Given the description of an element on the screen output the (x, y) to click on. 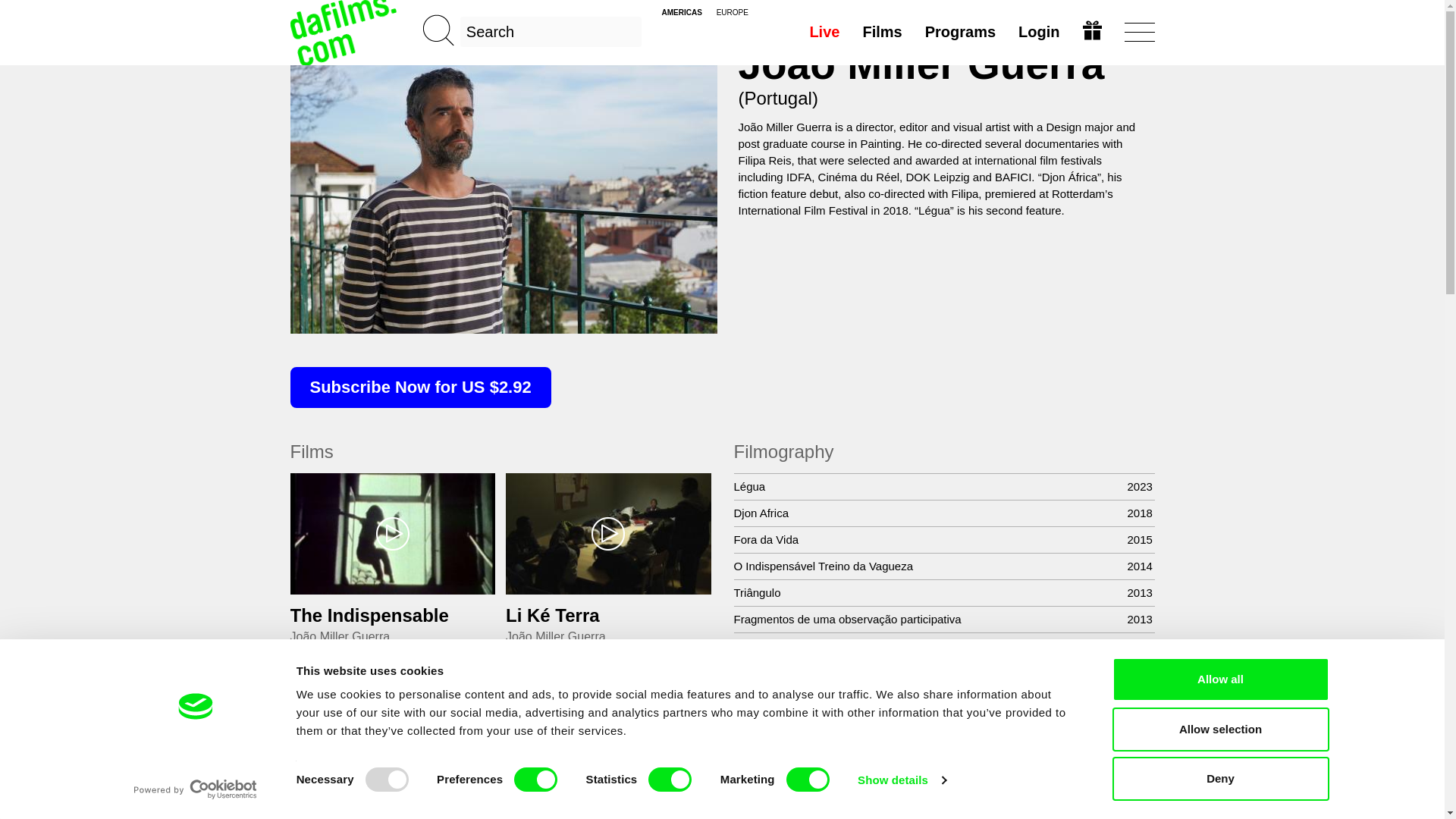
Show details (900, 780)
Home (343, 32)
